Given the description of an element on the screen output the (x, y) to click on. 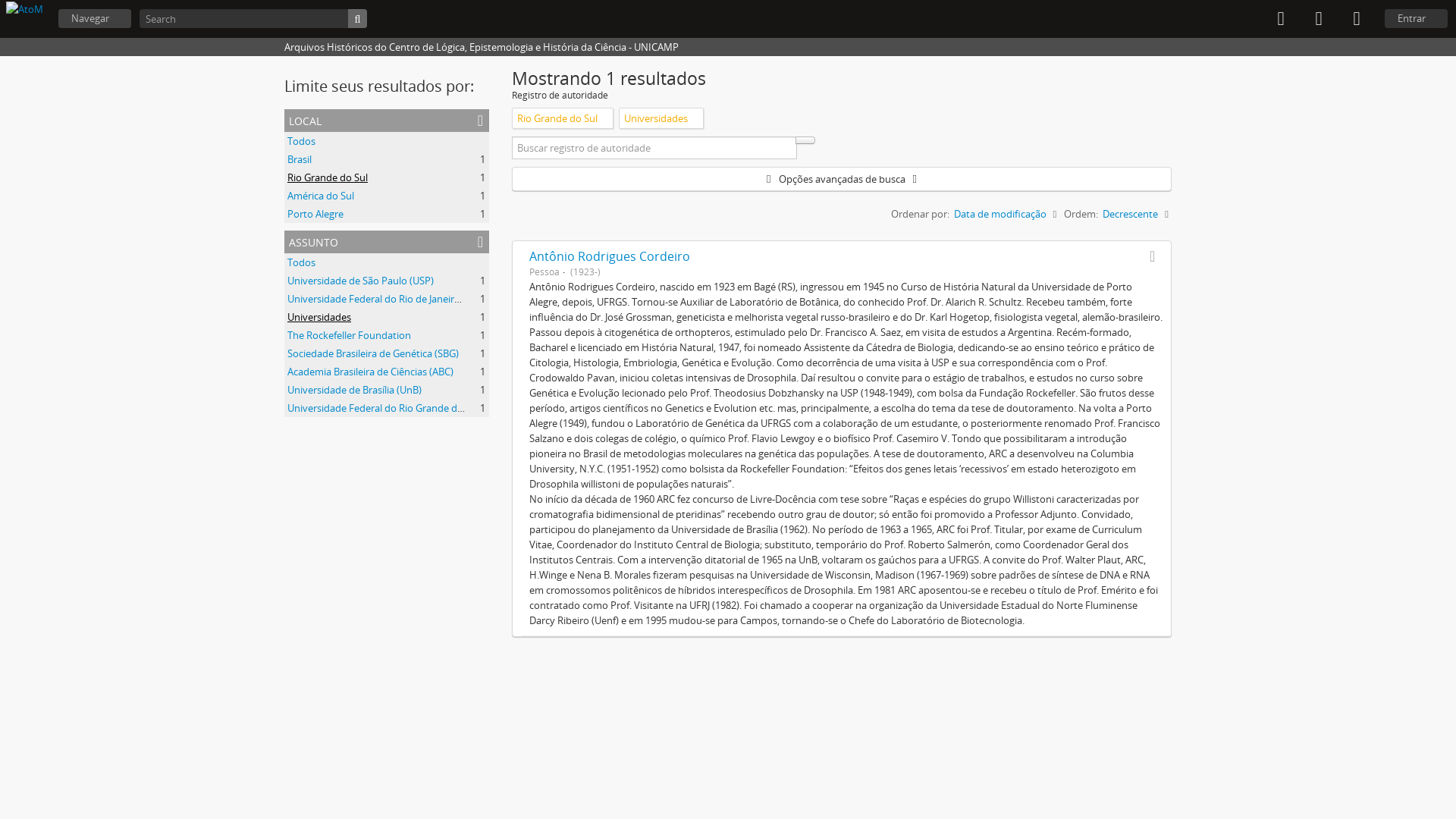
Entrar Element type: text (1415, 18)
local Element type: text (386, 120)
Brasil Element type: text (299, 159)
Rio Grande do Sul Element type: text (327, 177)
Universidade Federal do Rio de Janeiro (UFRJ) Element type: text (388, 298)
Universidade Federal do Rio Grande do Sul (UFRGS) Element type: text (402, 407)
assunto Element type: text (386, 241)
Idioma Element type: text (1318, 18)
Porto Alegre Element type: text (315, 213)
Navegar Element type: text (94, 18)
Todos Element type: text (301, 262)
Atalhos Element type: text (1356, 18)
Todos Element type: text (301, 140)
Universidades Element type: text (319, 316)
The Rockefeller Foundation Element type: text (349, 335)
